Given the description of an element on the screen output the (x, y) to click on. 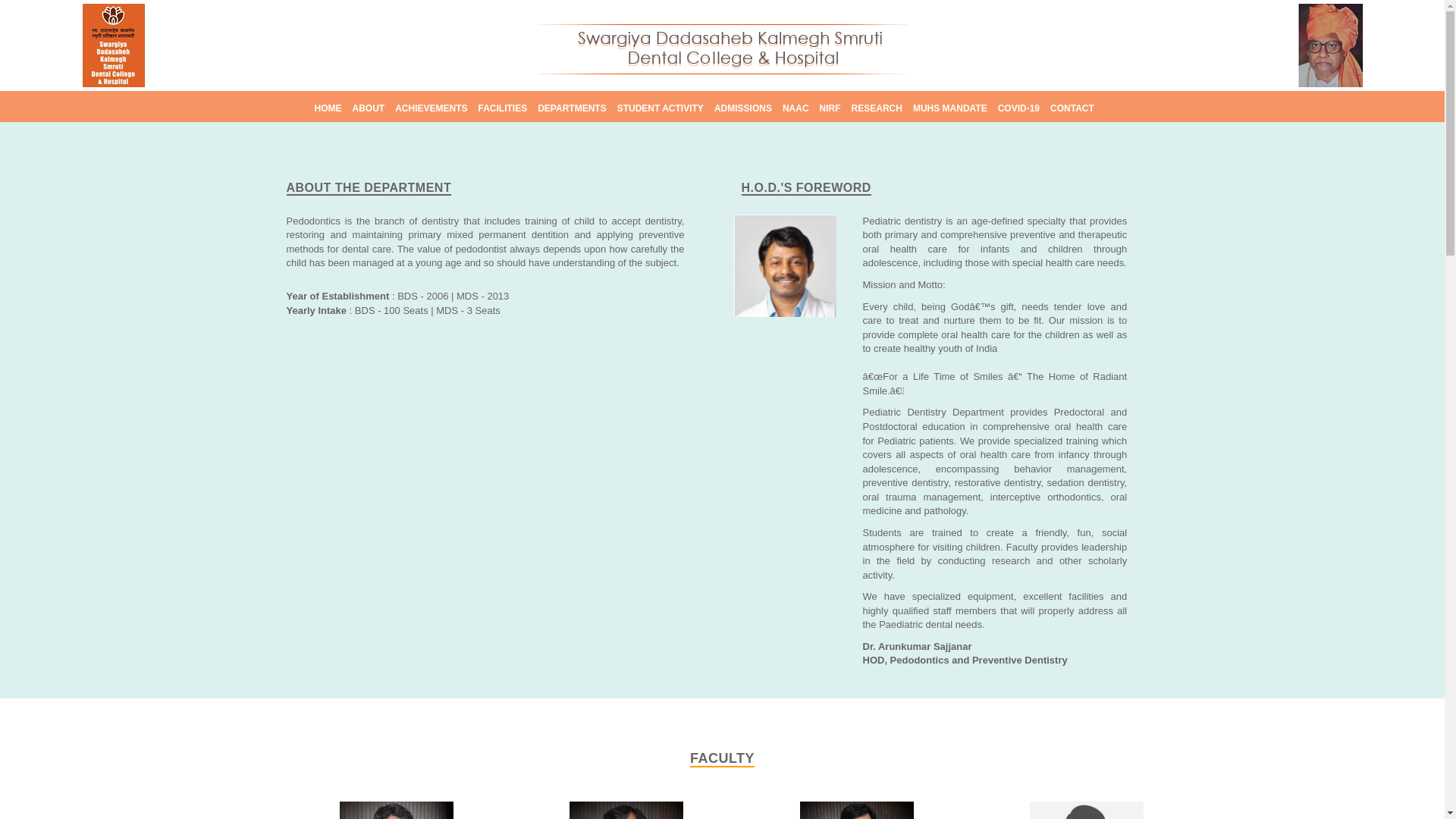
ACHIEVEMENTS (430, 107)
FACILITIES (503, 107)
ABOUT (367, 107)
HOME (327, 107)
DEPARTMENTS (571, 107)
